Given the description of an element on the screen output the (x, y) to click on. 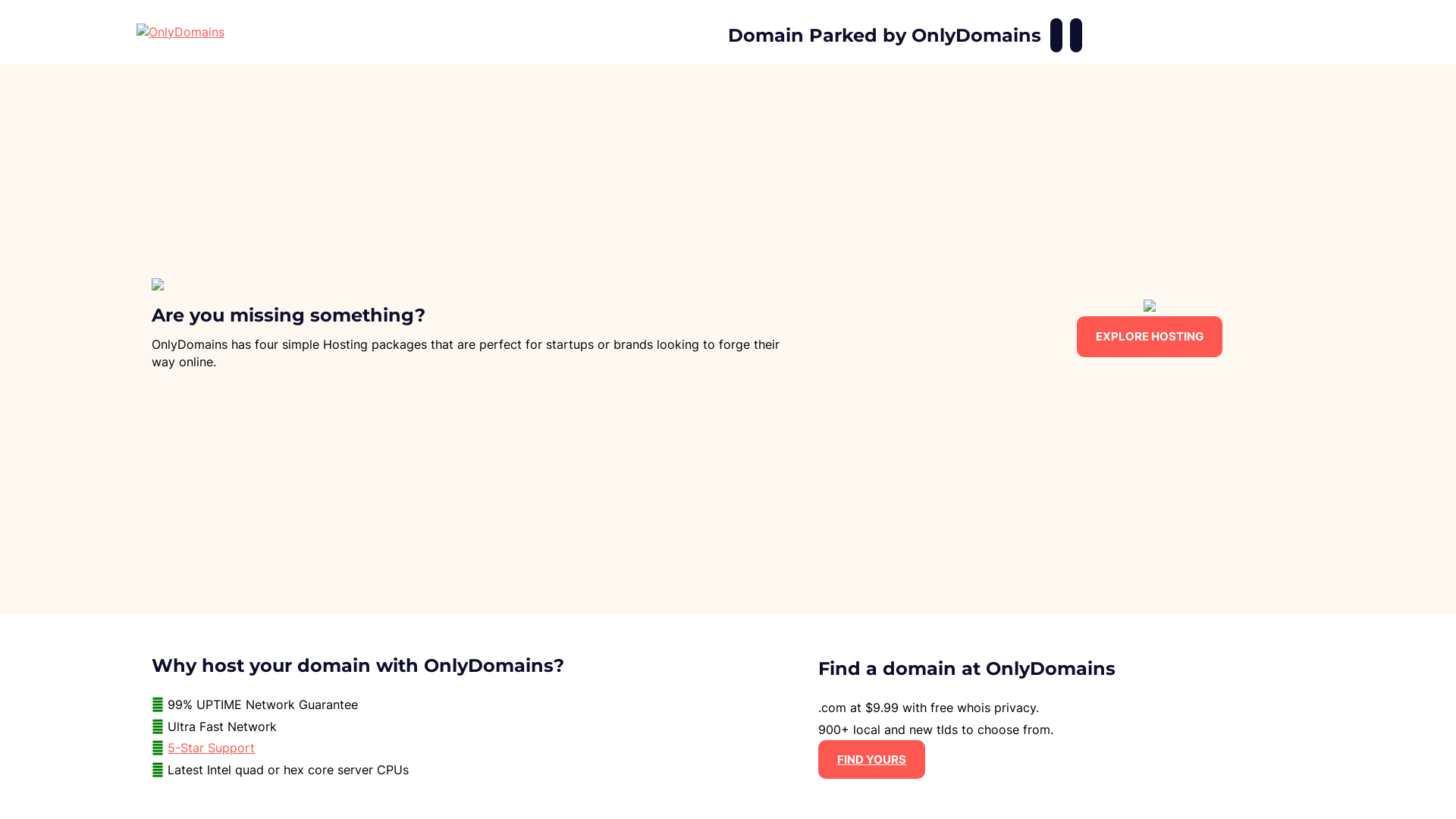
OnlyDomains Twitter Element type: hover (1075, 35)
OnlyDomains Facebook Element type: hover (1056, 35)
EXPLORE HOSTING Element type: text (1149, 336)
5-Star Support Element type: text (210, 747)
FIND YOURS Element type: text (871, 759)
